Given the description of an element on the screen output the (x, y) to click on. 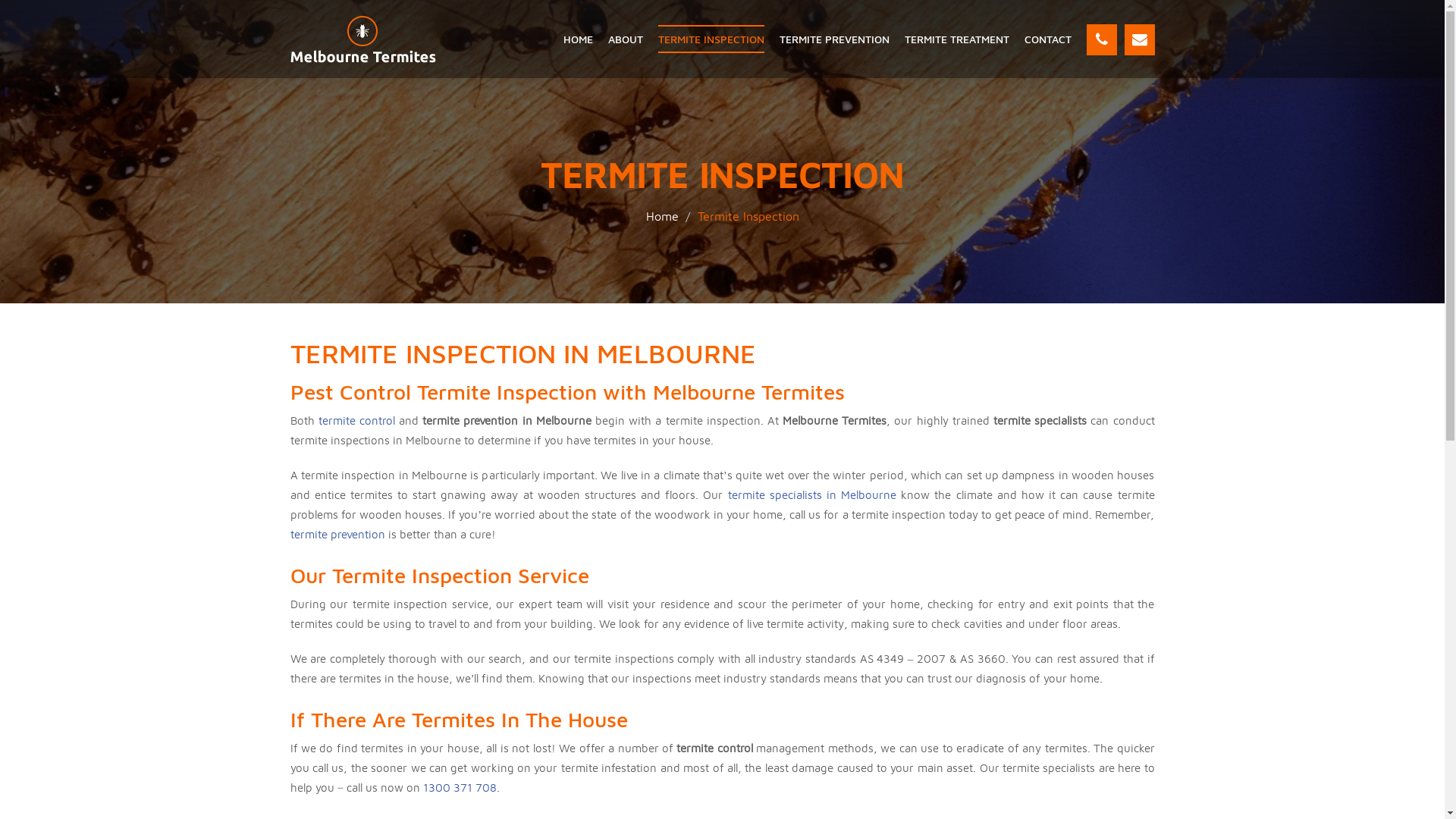
1300 371 708 Element type: text (459, 787)
termite control Element type: text (356, 420)
HOME Element type: text (577, 38)
ABOUT Element type: text (625, 38)
1300 371 708 Element type: hover (1100, 39)
termite specialists in Melbourne Element type: text (812, 494)
CONTACT Element type: text (1046, 38)
Home Element type: text (662, 215)
TERMITE PREVENTION Element type: text (834, 38)
Melbourne Termites Element type: hover (362, 38)
TERMITE TREATMENT Element type: text (955, 38)
termite prevention Element type: text (336, 533)
Contact Us Element type: hover (1138, 39)
TERMITE INSPECTION Element type: text (711, 38)
